Given the description of an element on the screen output the (x, y) to click on. 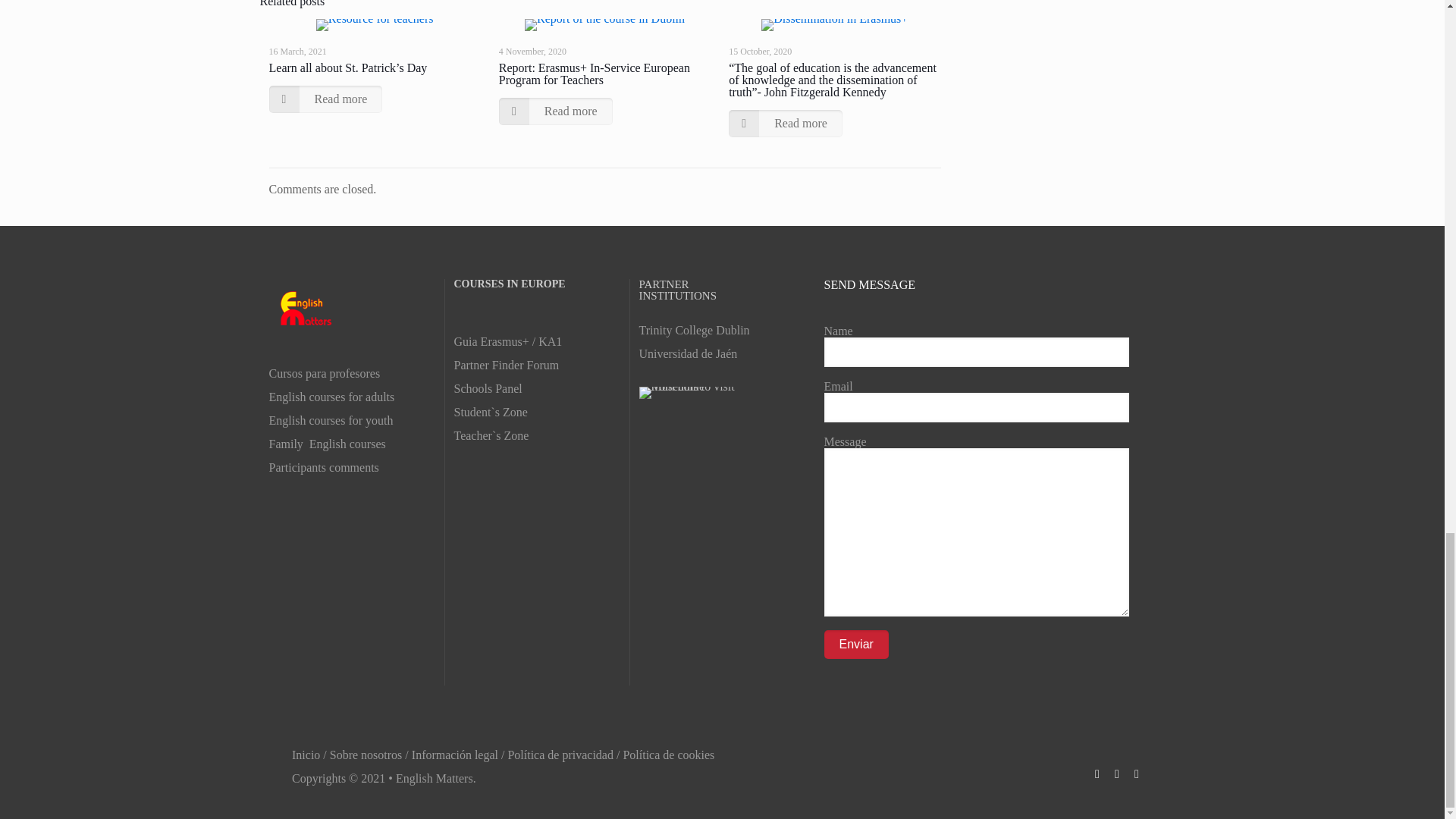
Enviar (856, 644)
